Given the description of an element on the screen output the (x, y) to click on. 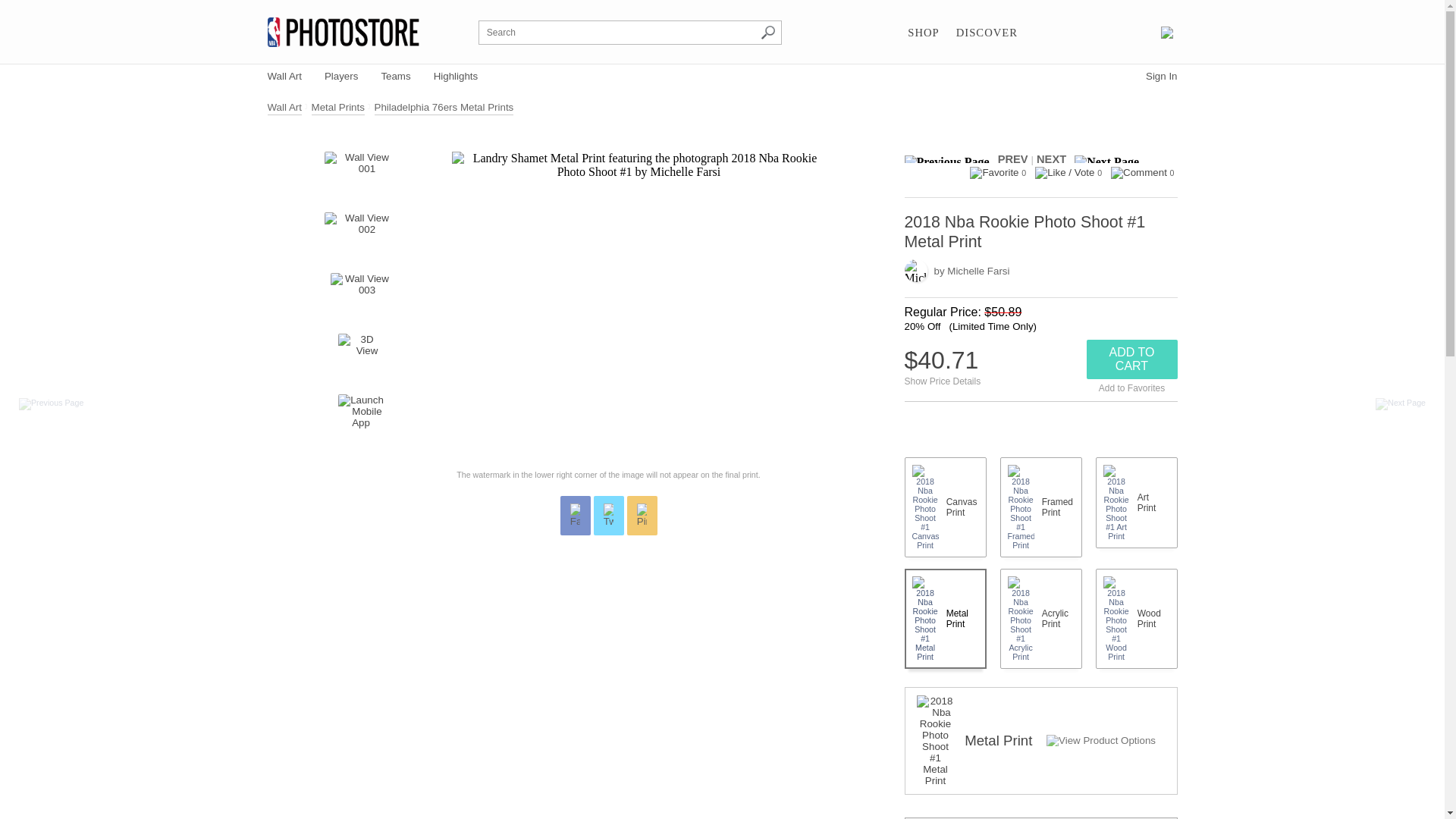
DISCOVER (987, 32)
Wall View 001 (360, 174)
NBA Photo Store (342, 31)
Wall View 003 (360, 295)
Wall View 002 (360, 234)
Favorite (993, 173)
Search (767, 32)
Comment (1138, 173)
SHOP (922, 32)
3D View (360, 356)
